Given the description of an element on the screen output the (x, y) to click on. 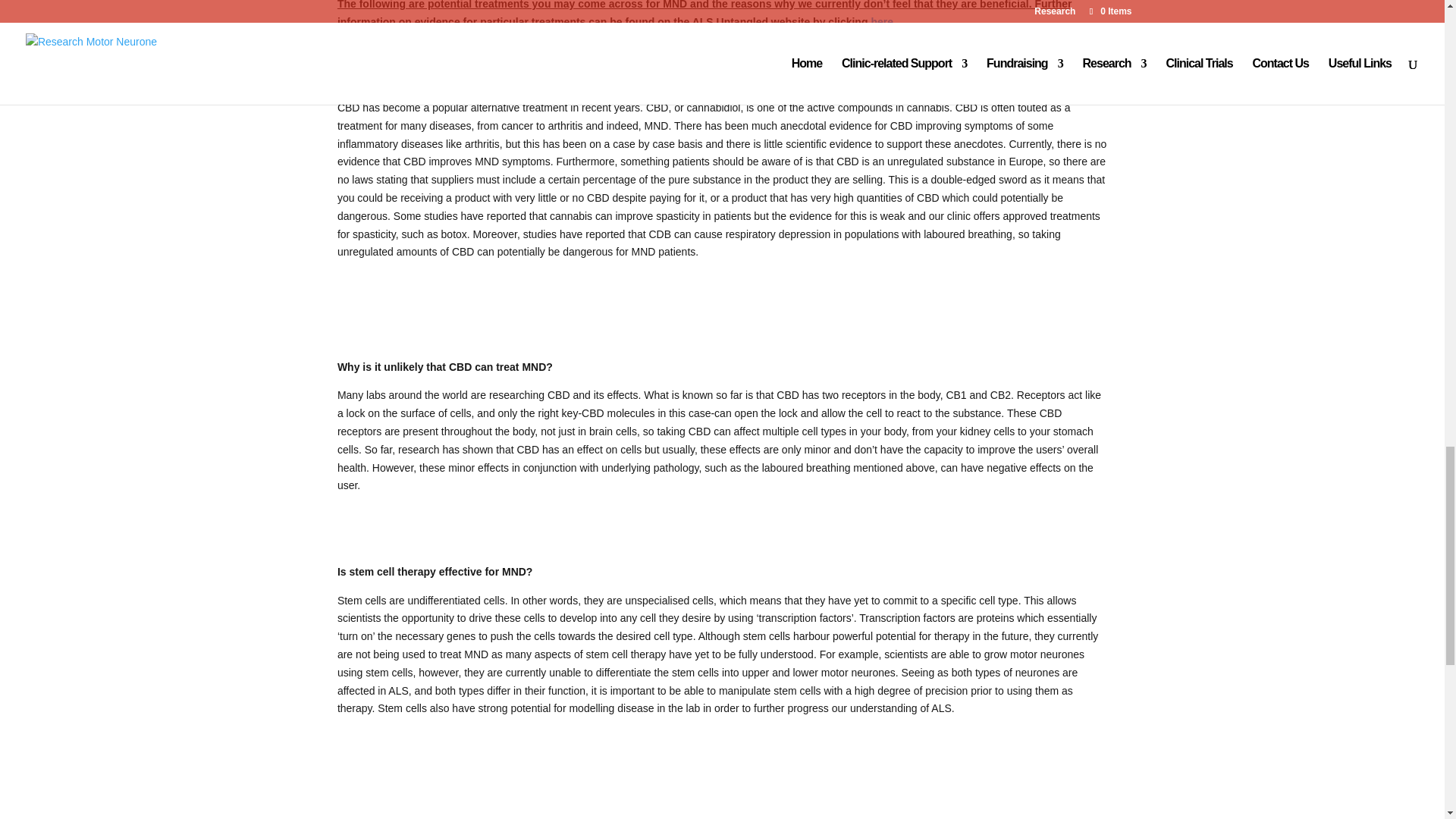
here (881, 21)
